Given the description of an element on the screen output the (x, y) to click on. 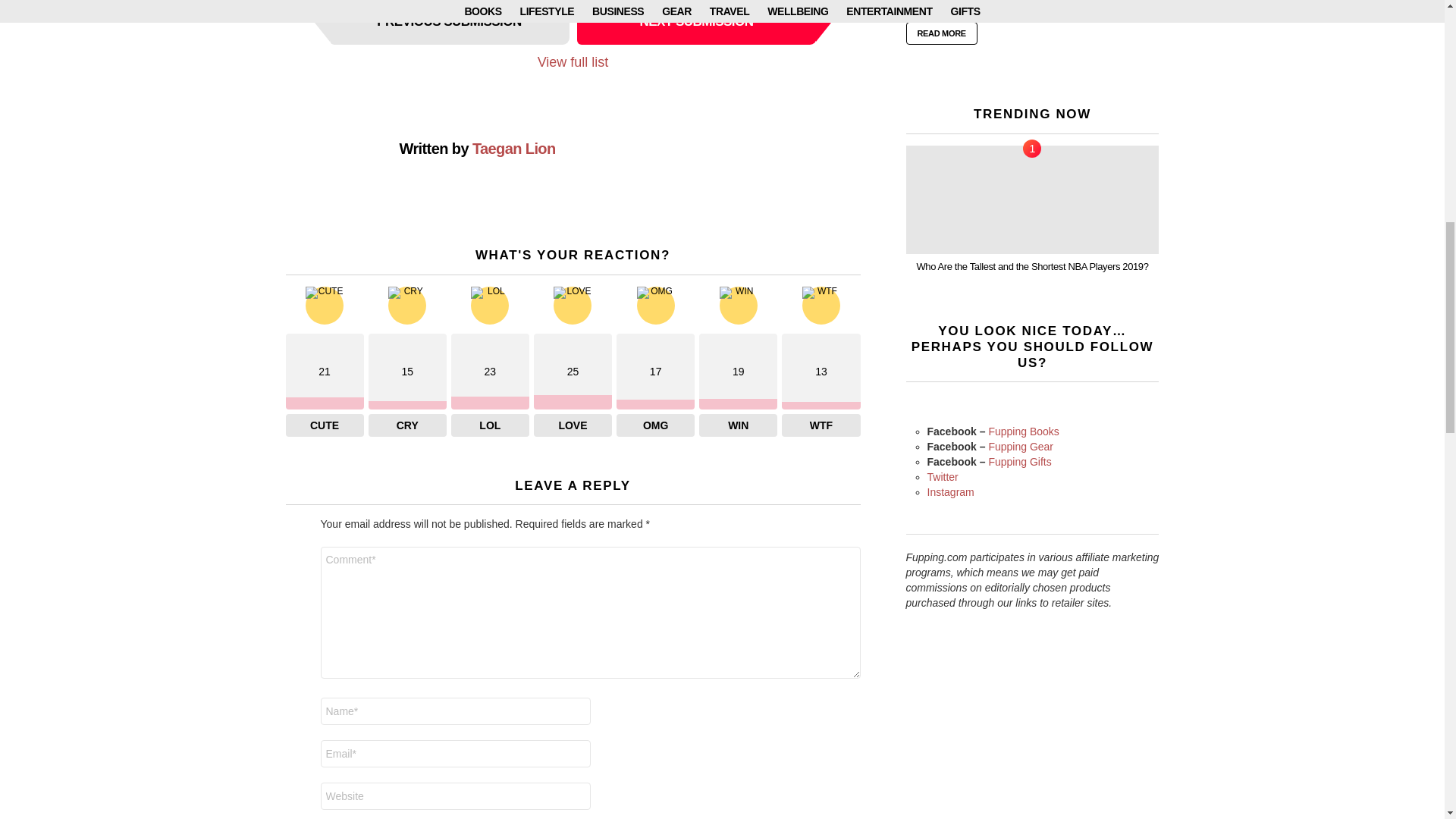
PREVIOUS SUBMISSION (449, 22)
View full list (572, 61)
Who Are the Tallest and the Shortest NBA Players 2019? (1031, 199)
NEXT SUBMISSION (695, 22)
